Given the description of an element on the screen output the (x, y) to click on. 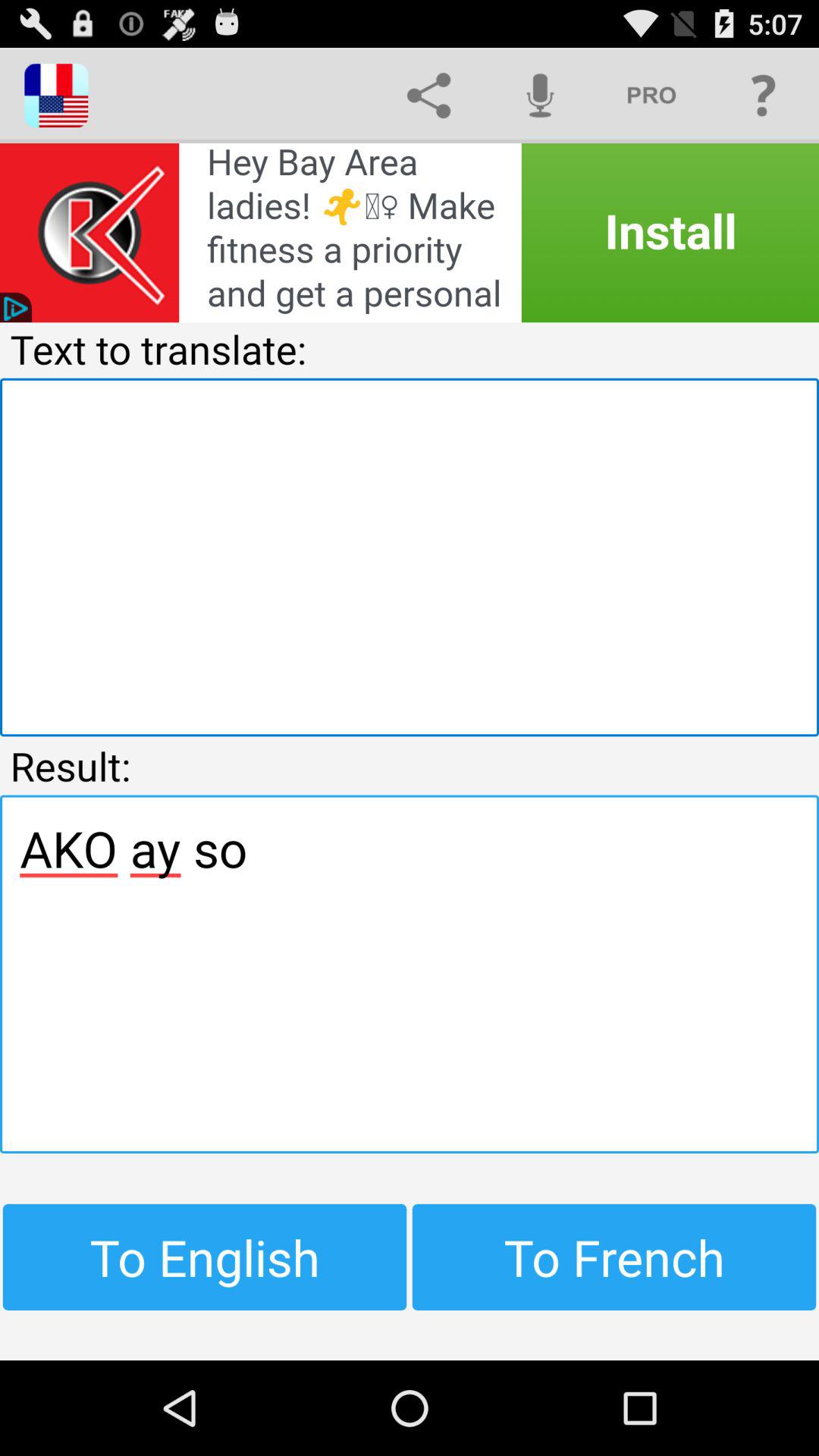
select button to the left of the to french item (204, 1257)
